Given the description of an element on the screen output the (x, y) to click on. 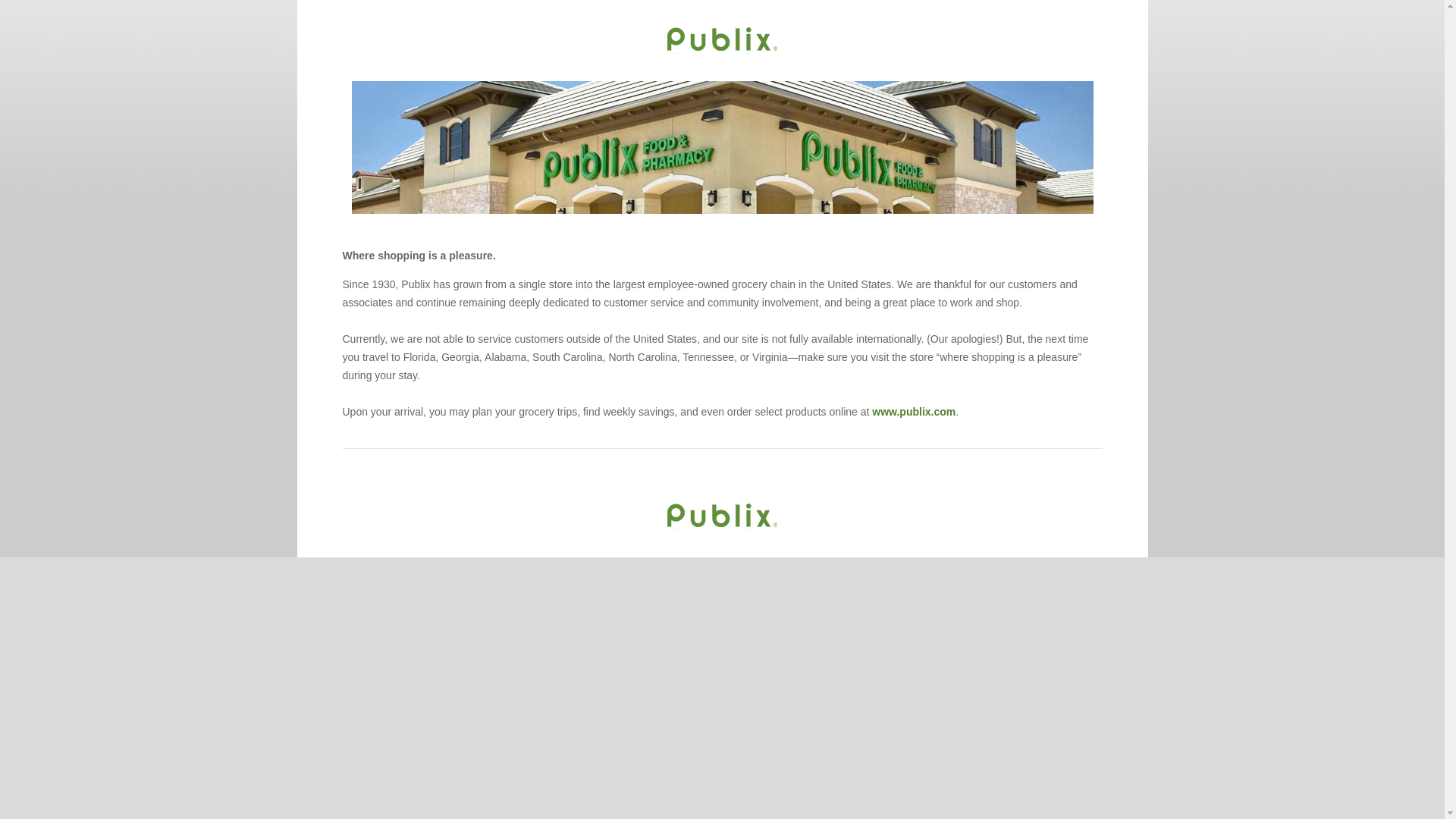
www.publix.com (913, 411)
